Given the description of an element on the screen output the (x, y) to click on. 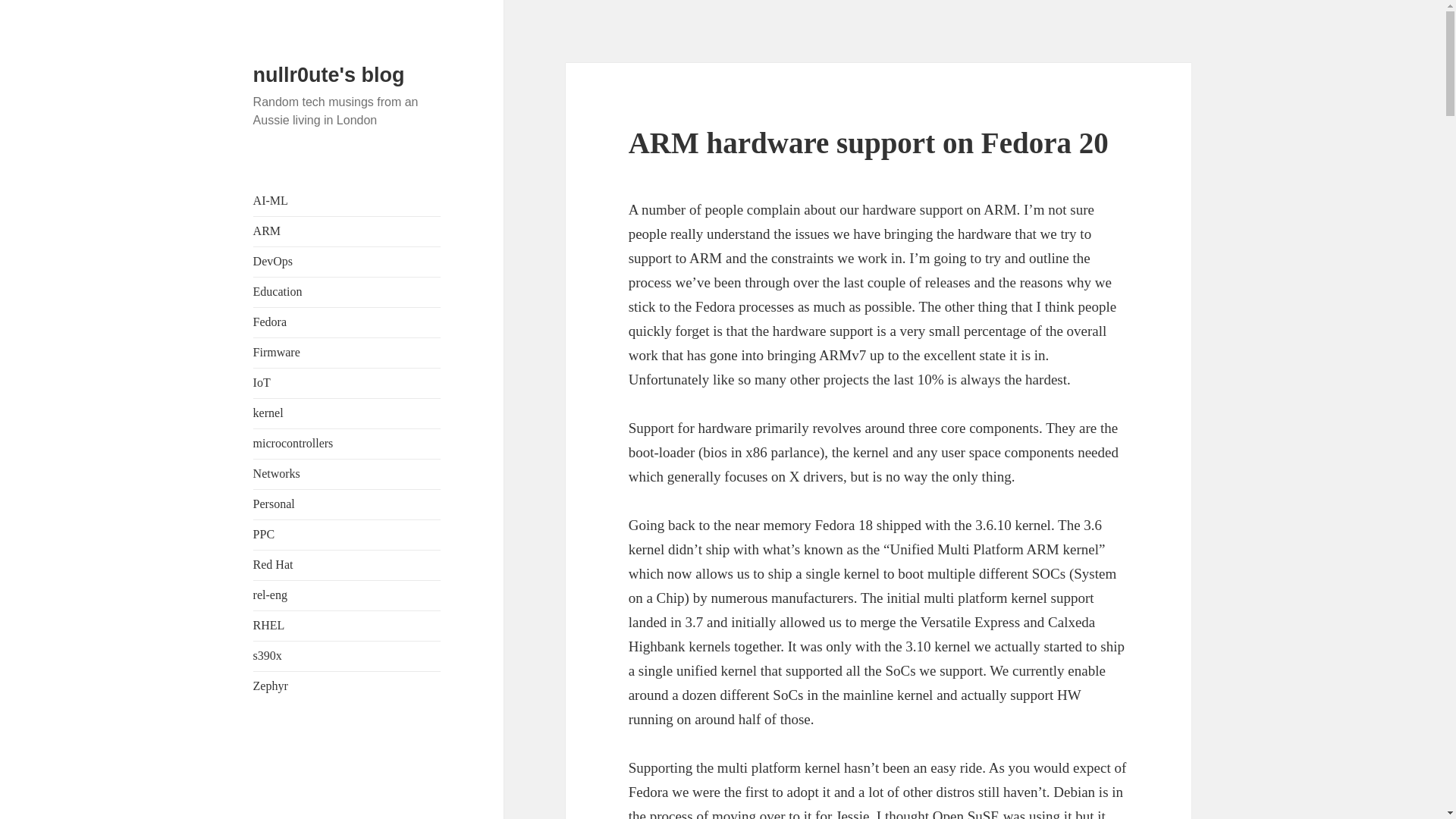
rel-eng (269, 594)
Zephyr (270, 685)
Networks (276, 472)
Red Hat (273, 563)
s390x (267, 655)
Jessie (852, 813)
kernel (268, 412)
Education (277, 291)
ARM (267, 230)
IoT (261, 382)
DevOps (272, 260)
RHEL (269, 625)
nullr0ute's blog (328, 74)
microcontrollers (293, 442)
Personal (274, 503)
